Given the description of an element on the screen output the (x, y) to click on. 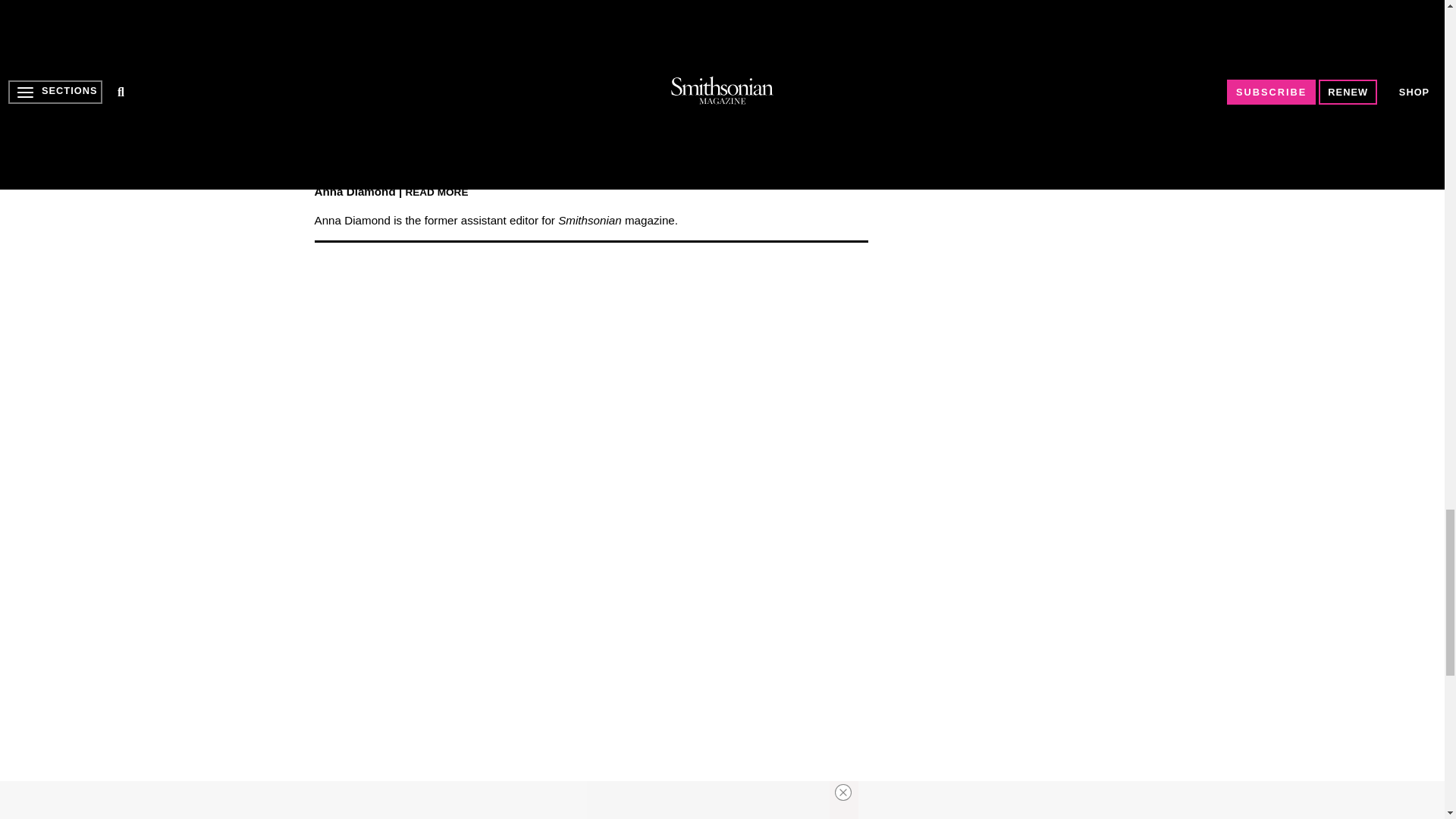
Sign Up (740, 123)
Read more from this author (435, 191)
